Given the description of an element on the screen output the (x, y) to click on. 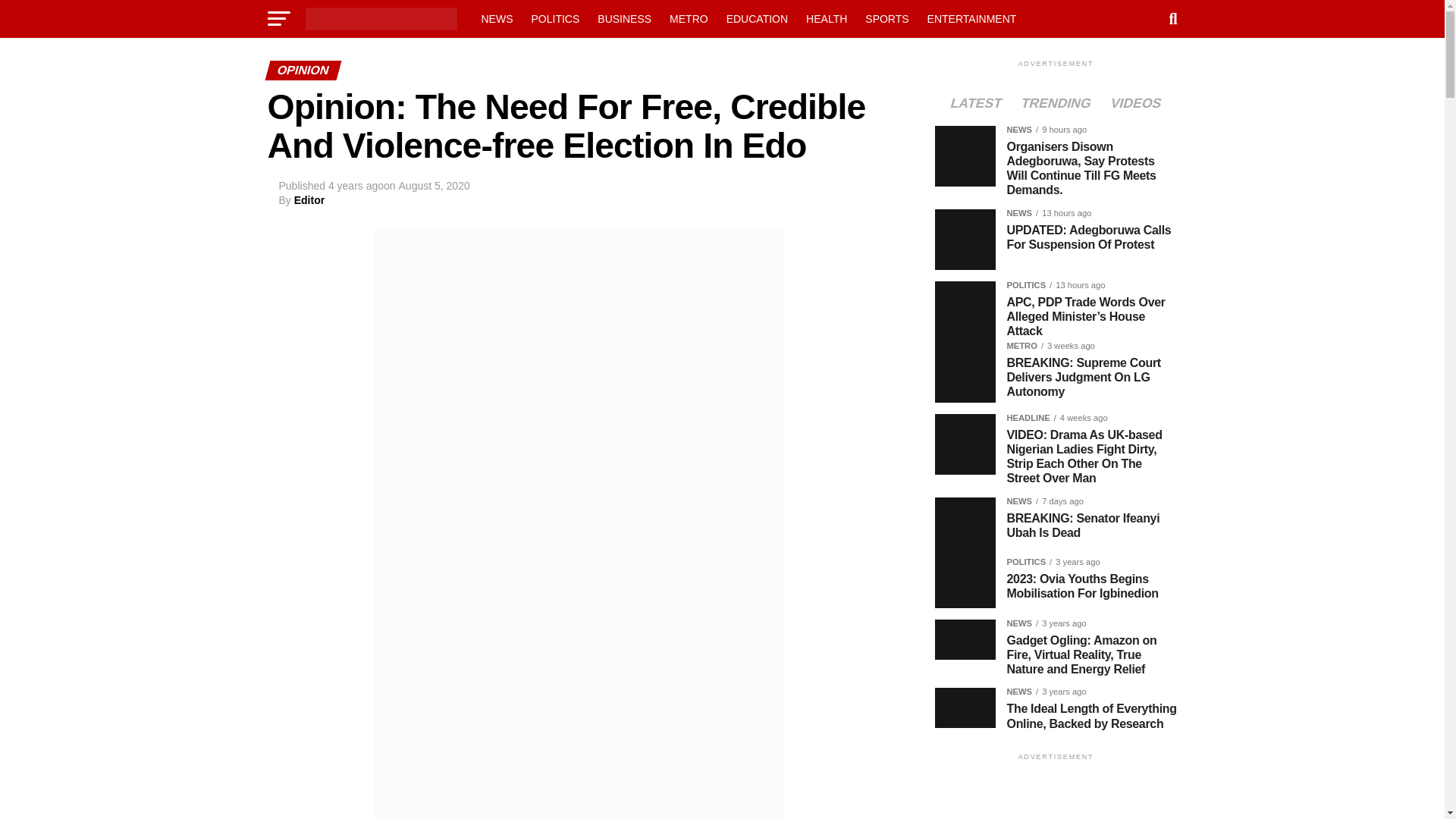
METRO (689, 18)
EDUCATION (756, 18)
NEWS (496, 18)
POLITICS (554, 18)
Posts by Editor (309, 200)
BUSINESS (624, 18)
